Given the description of an element on the screen output the (x, y) to click on. 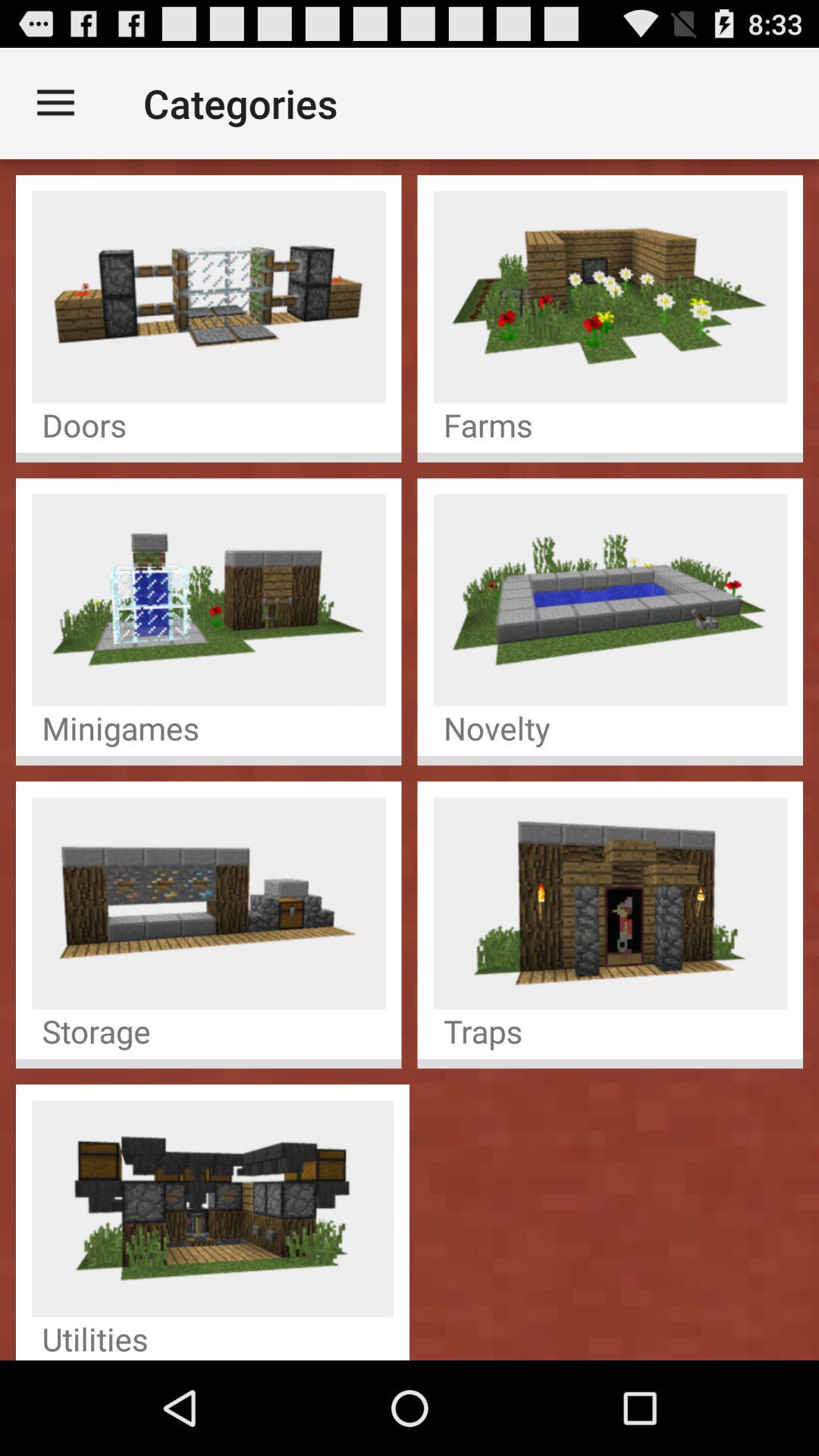
turn on item next to the categories (55, 103)
